Given the description of an element on the screen output the (x, y) to click on. 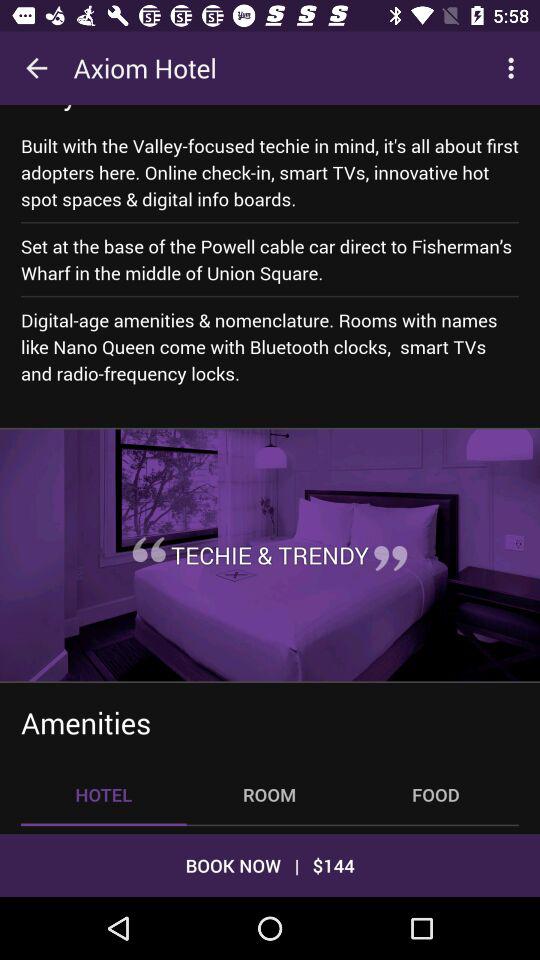
press built with the icon (270, 172)
